Given the description of an element on the screen output the (x, y) to click on. 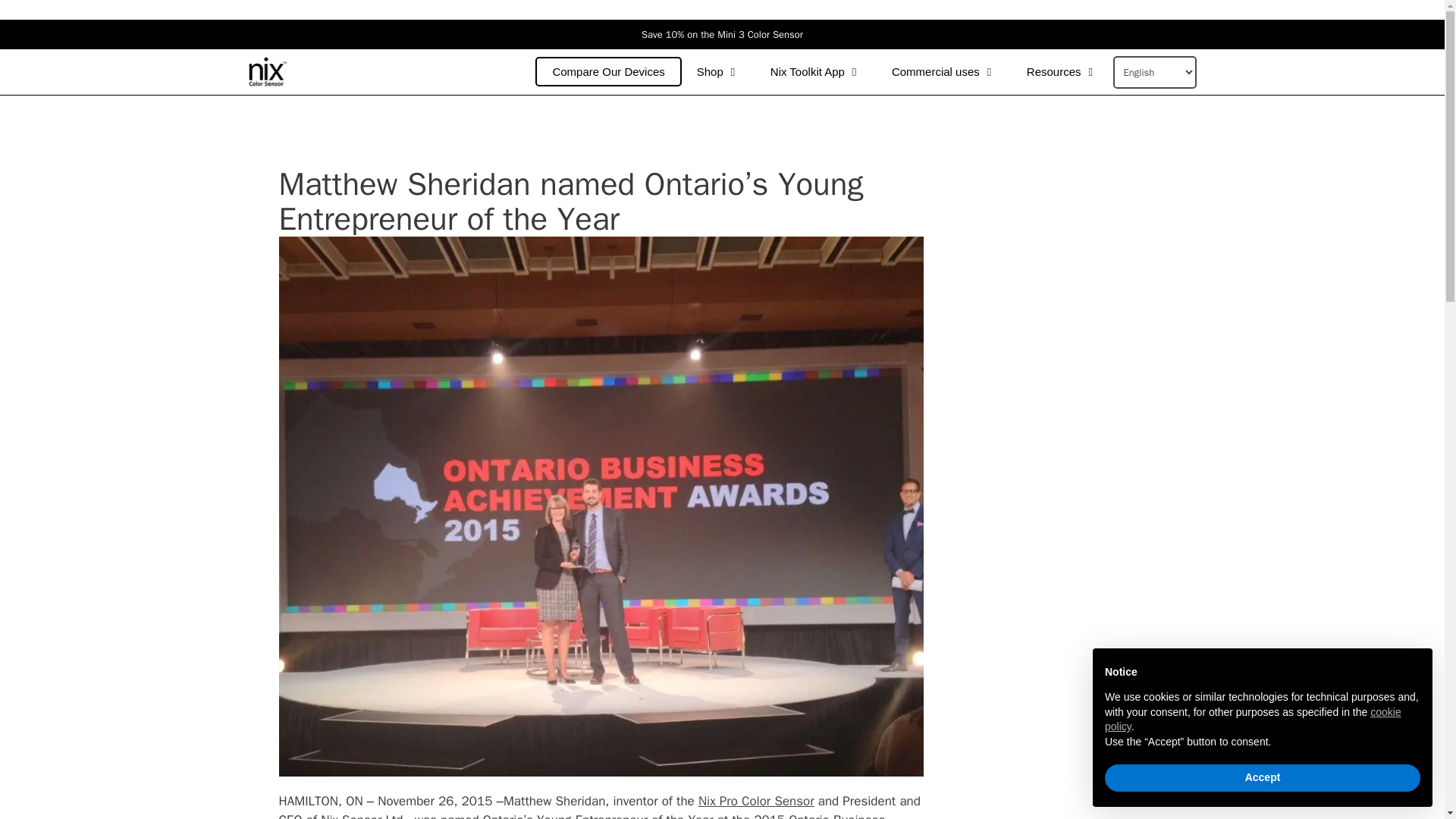
Nix Sensor Ltd (268, 72)
Nix Sensor Ltd (271, 72)
